Given the description of an element on the screen output the (x, y) to click on. 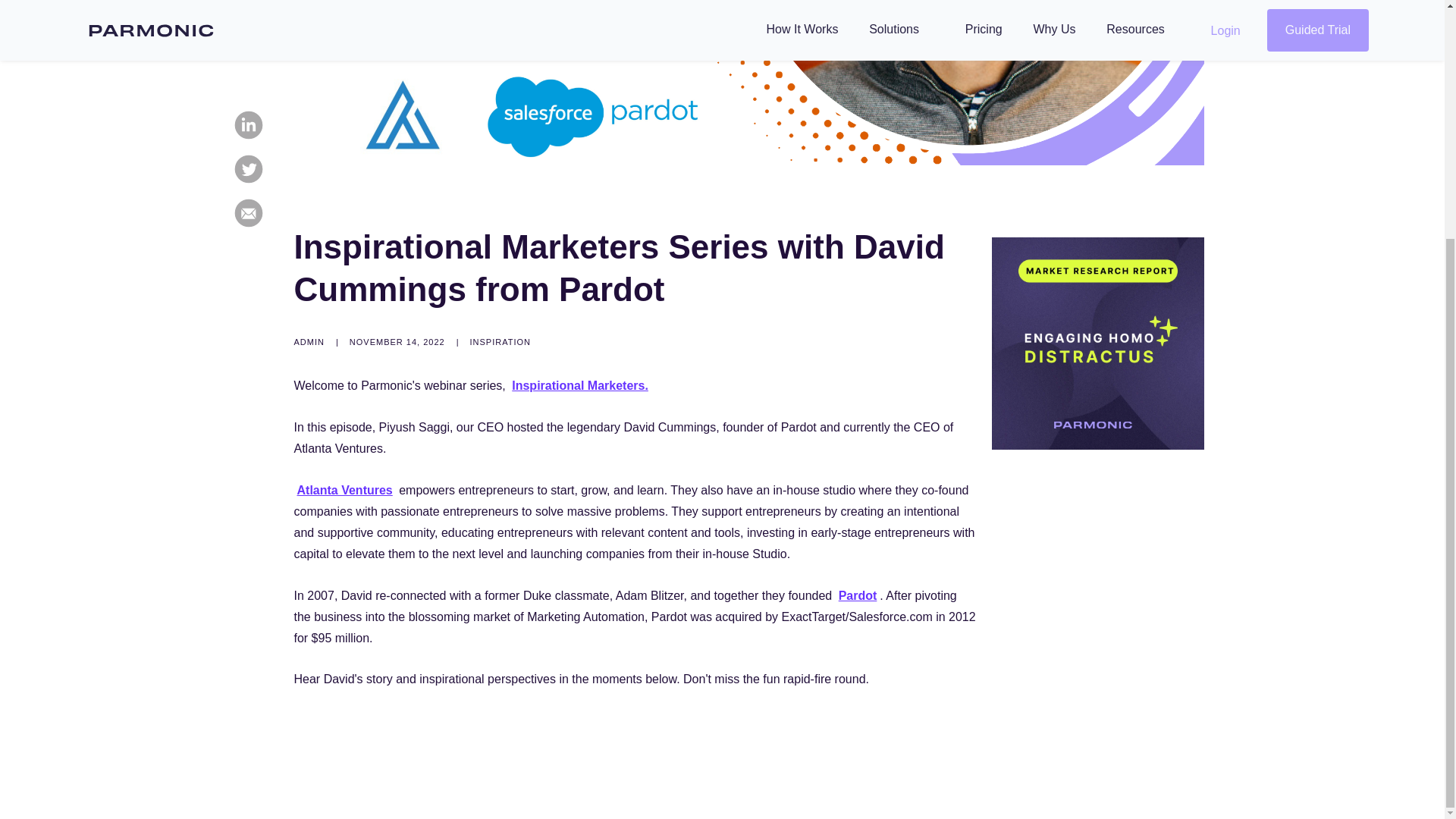
Pardot (857, 594)
Inspirational Marketers. (579, 385)
Atlanta Ventures (345, 490)
